Given the description of an element on the screen output the (x, y) to click on. 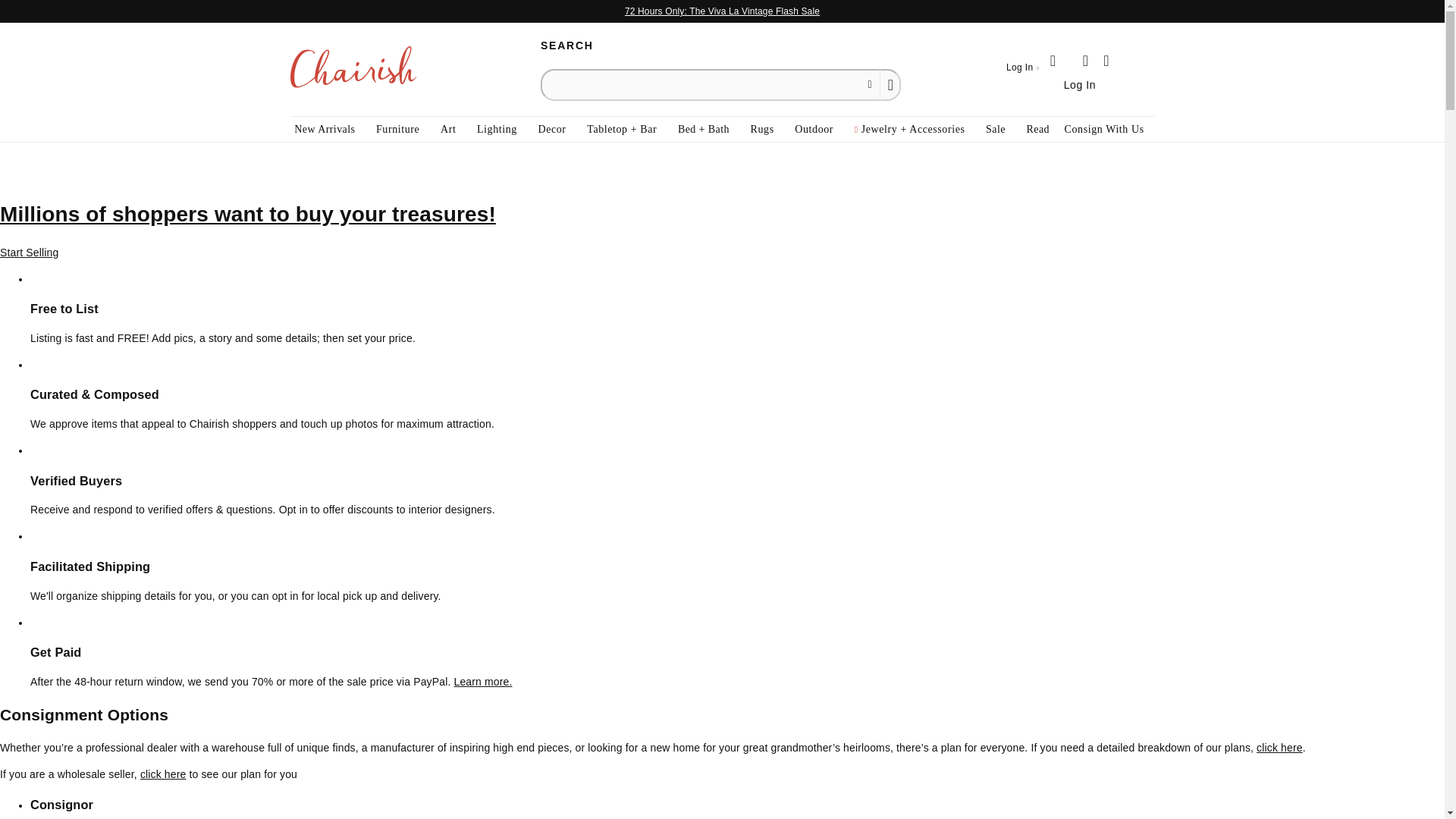
Log In (1022, 69)
Furniture (397, 129)
New Arrivals (324, 129)
Log In (1080, 83)
72 Hours Only: The Viva La Vintage Flash Sale (721, 10)
Chairish - The Art of Vintage. The Luxury of Home. (351, 68)
